Given the description of an element on the screen output the (x, y) to click on. 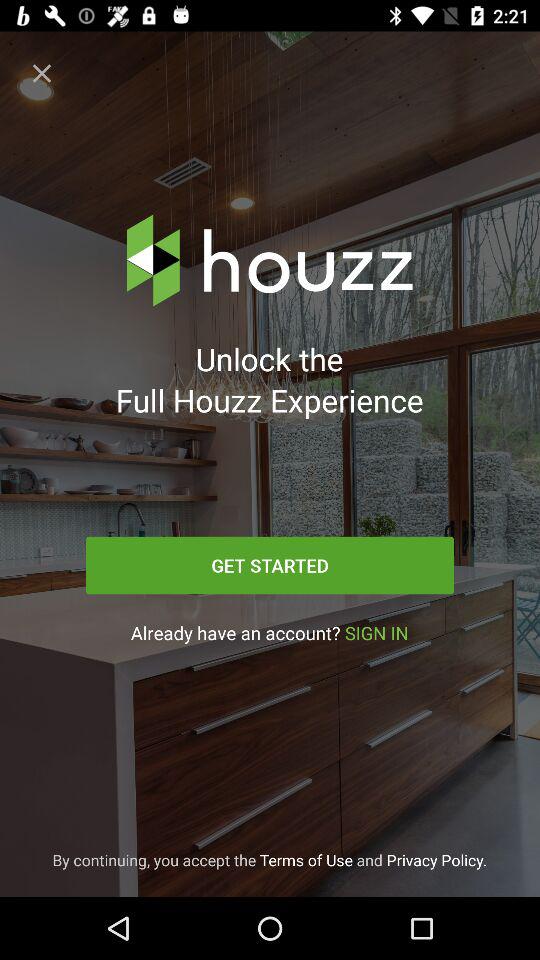
open already have an (269, 632)
